Given the description of an element on the screen output the (x, y) to click on. 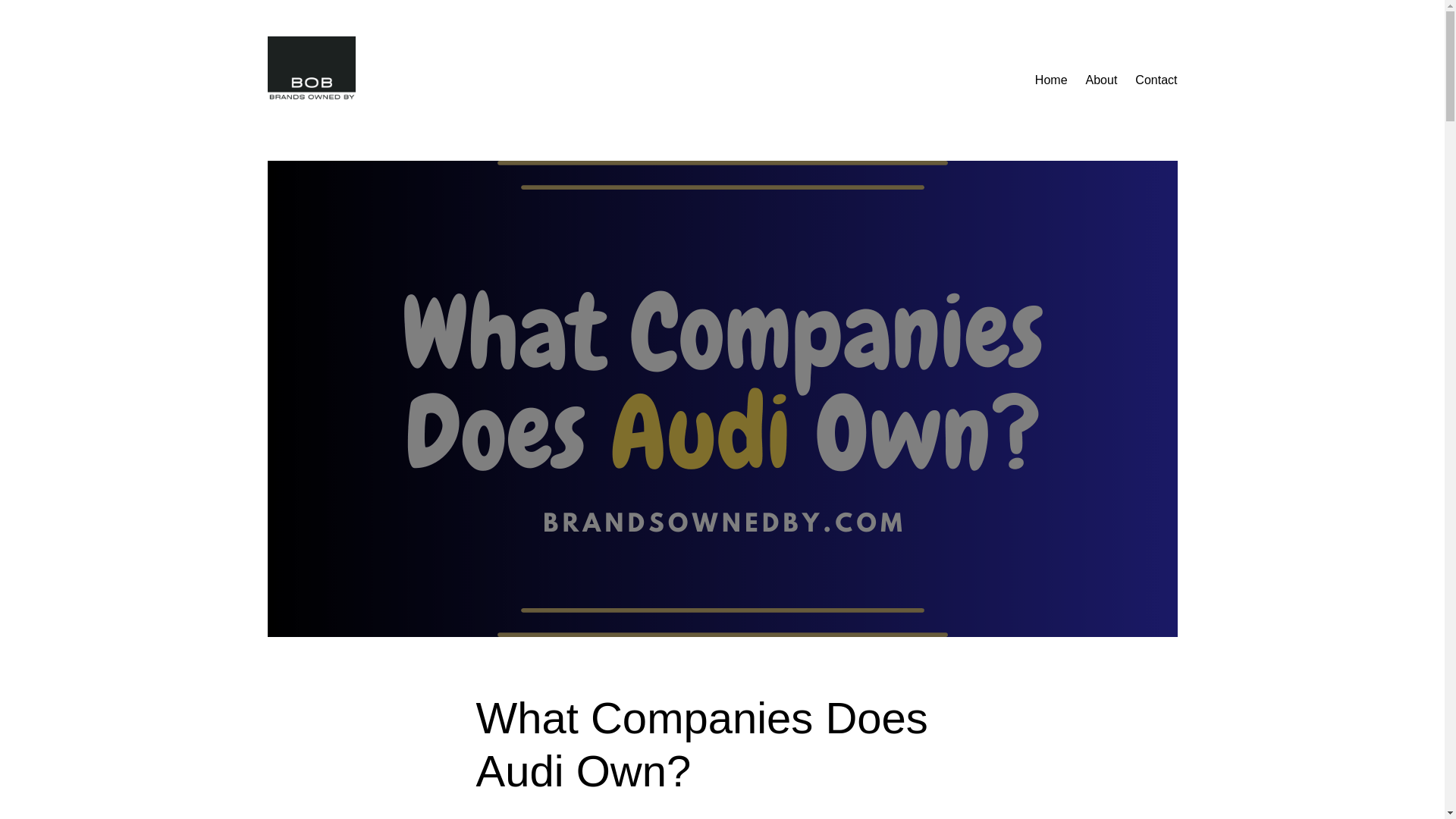
Home (1051, 80)
Contact (1155, 80)
About (1102, 80)
